Given the description of an element on the screen output the (x, y) to click on. 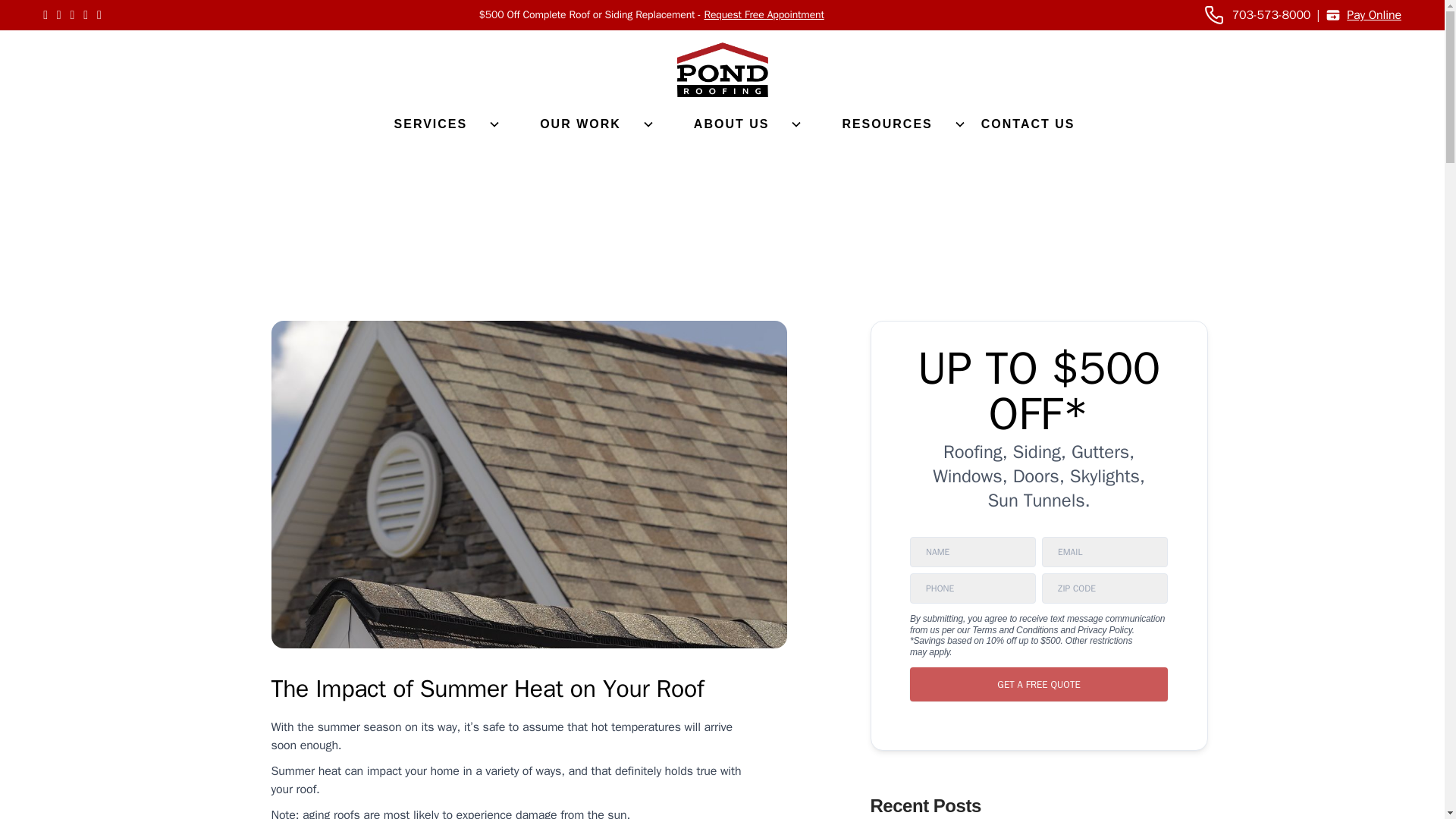
Get A Free Quote (1038, 684)
